Given the description of an element on the screen output the (x, y) to click on. 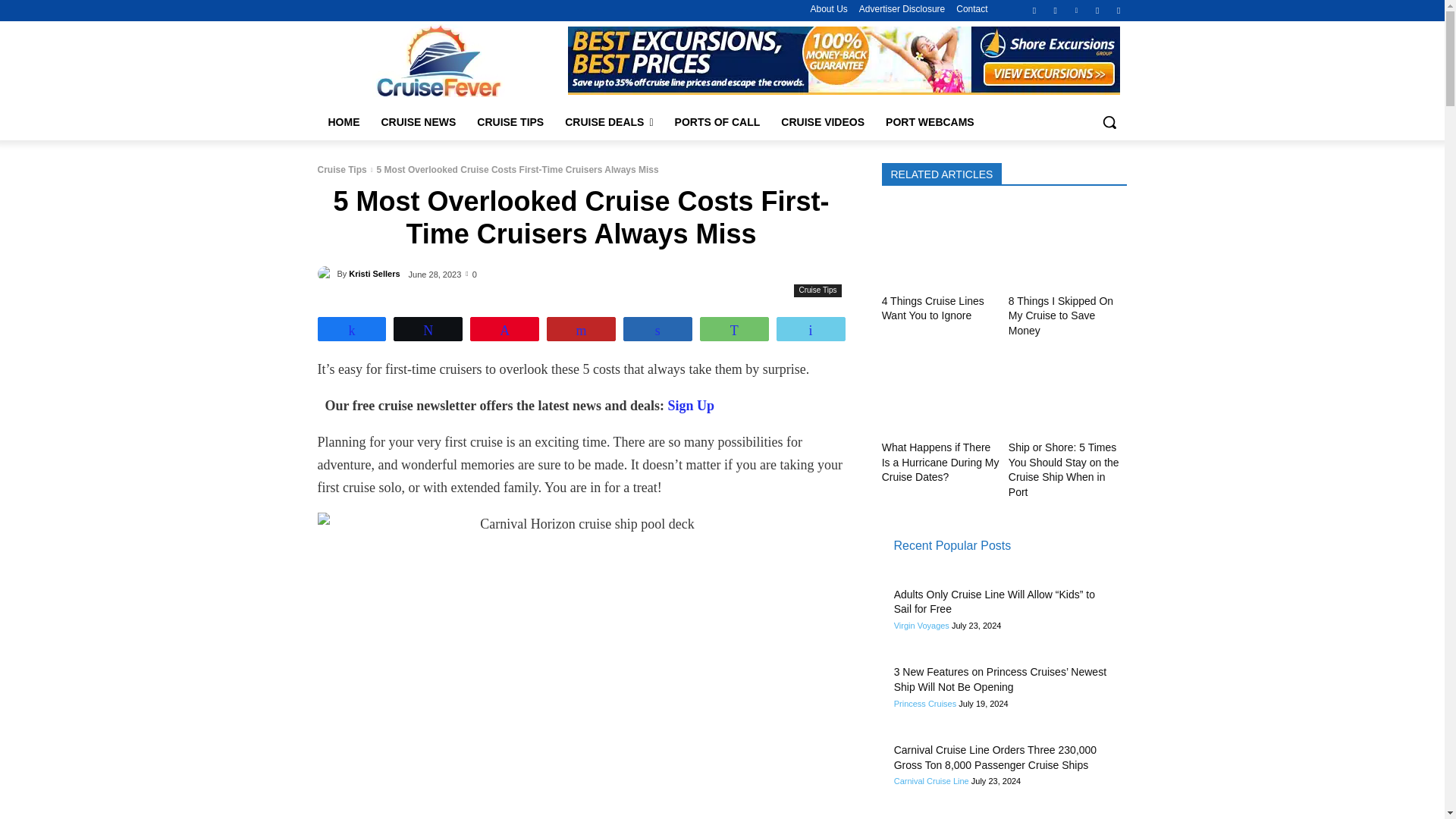
CRUISE NEWS (417, 122)
About Us (828, 9)
HOME (343, 122)
CRUISE TIPS (509, 122)
Contact (971, 9)
Pinterest (1075, 9)
Twitter (1097, 9)
Instagram (1055, 9)
Advertiser Disclosure (901, 9)
Facebook (1034, 9)
CRUISE DEALS (608, 122)
